Given the description of an element on the screen output the (x, y) to click on. 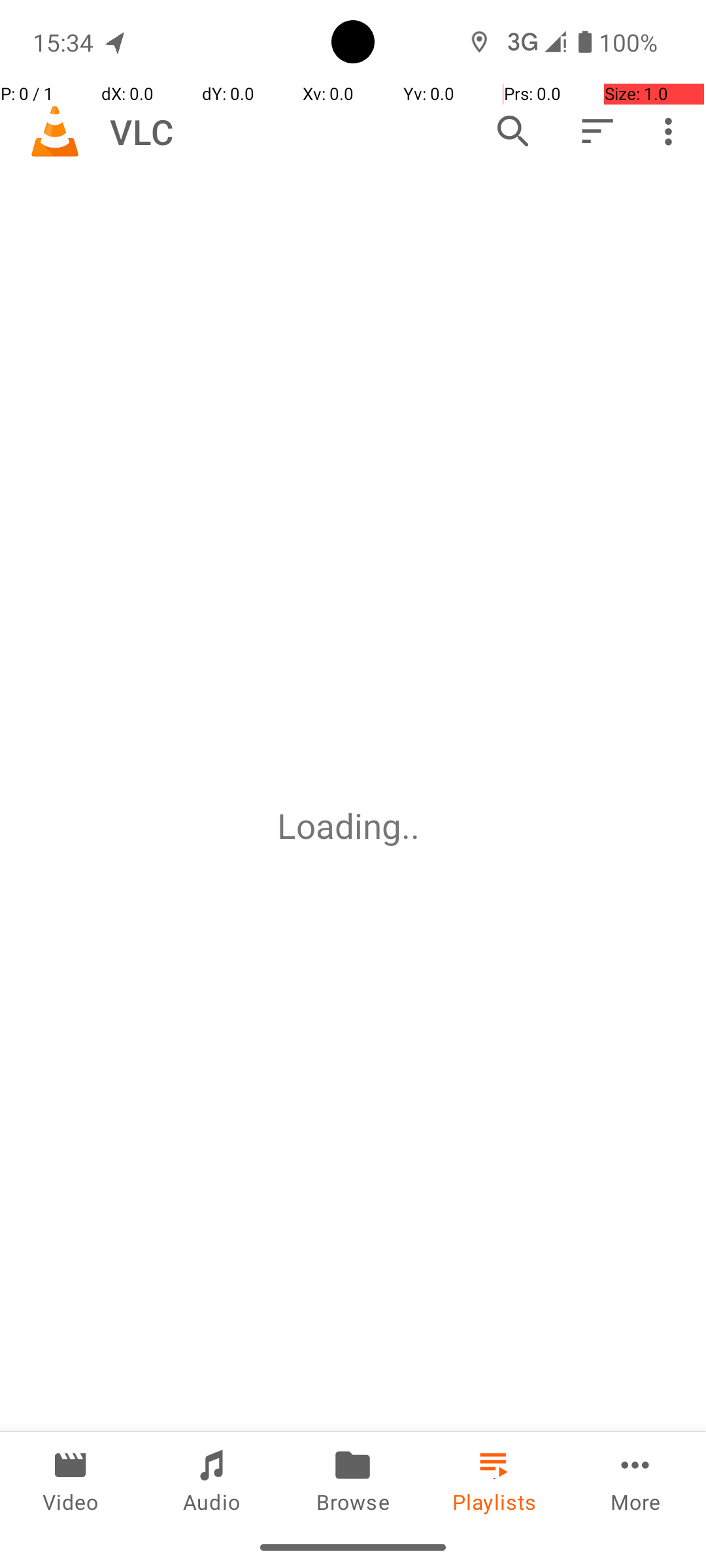
.. Element type: android.widget.TextView (414, 825)
